Given the description of an element on the screen output the (x, y) to click on. 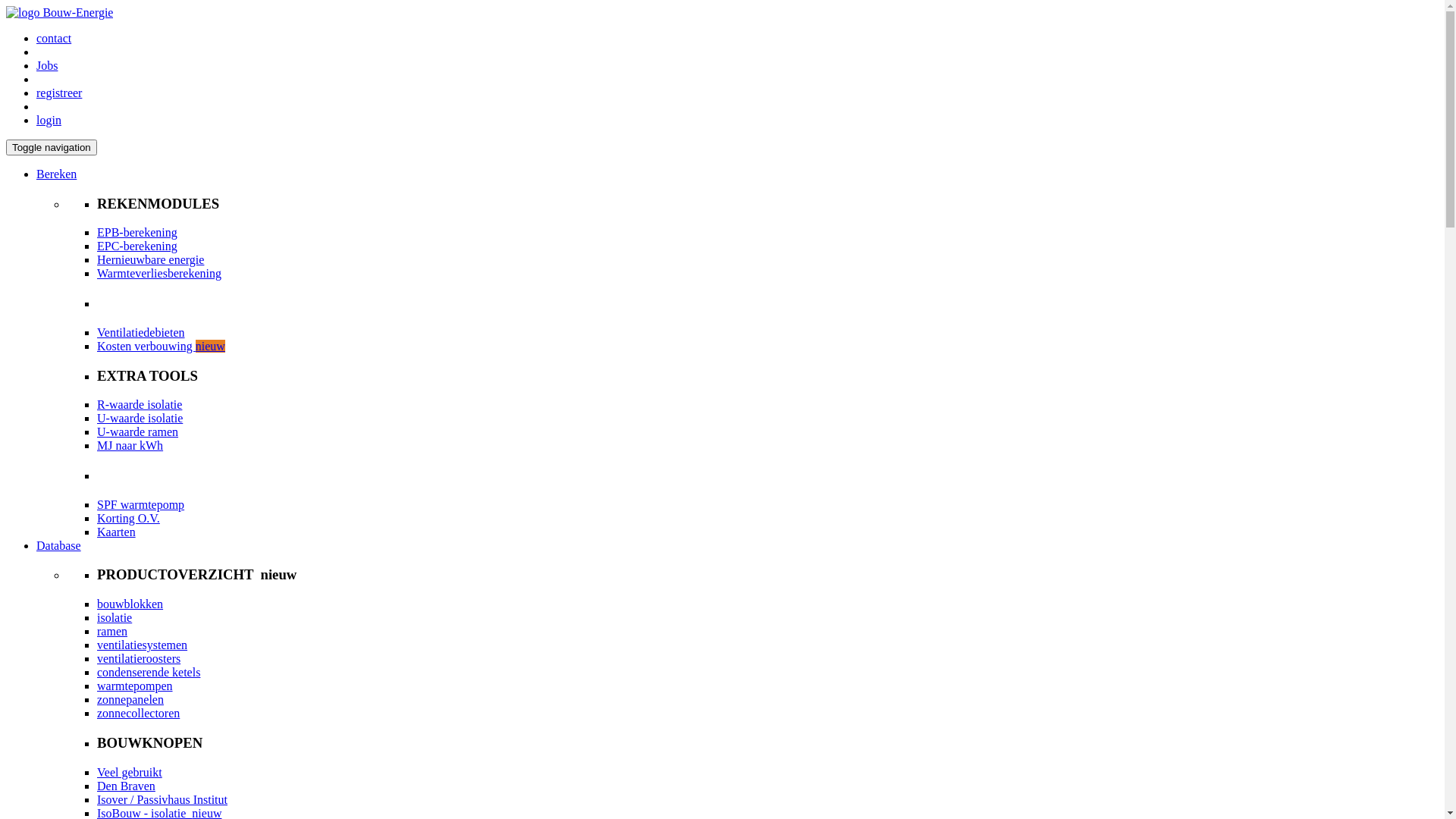
isolatie Element type: text (114, 617)
U-waarde ramen Element type: text (137, 431)
Jobs Element type: text (46, 65)
ventilatieroosters Element type: text (138, 658)
MJ naar kWh Element type: text (130, 445)
EPB-berekening Element type: text (137, 231)
EPC-berekening Element type: text (137, 245)
registreer Element type: text (58, 92)
R-waarde isolatie Element type: text (139, 404)
Kosten verbouwing nieuw Element type: text (161, 345)
Warmteverliesberekening Element type: text (159, 272)
login Element type: text (48, 119)
Bereken Element type: text (56, 173)
ramen Element type: text (112, 630)
Isover / Passivhaus Institut Element type: text (162, 799)
Korting O.V. Element type: text (128, 517)
Den Braven Element type: text (126, 785)
Hernieuwbare energie Element type: text (150, 259)
U-waarde isolatie Element type: text (139, 417)
zonnepanelen Element type: text (130, 699)
contact Element type: text (53, 37)
zonnecollectoren Element type: text (138, 712)
bouwblokken Element type: text (130, 603)
Kaarten Element type: text (116, 531)
warmtepompen Element type: text (134, 685)
Toggle navigation Element type: text (51, 147)
condenserende ketels Element type: text (148, 671)
ventilatiesystemen Element type: text (142, 644)
Veel gebruikt Element type: text (129, 771)
Database Element type: text (58, 545)
SPF warmtepomp Element type: text (140, 504)
Ventilatiedebieten Element type: text (141, 332)
